Given the description of an element on the screen output the (x, y) to click on. 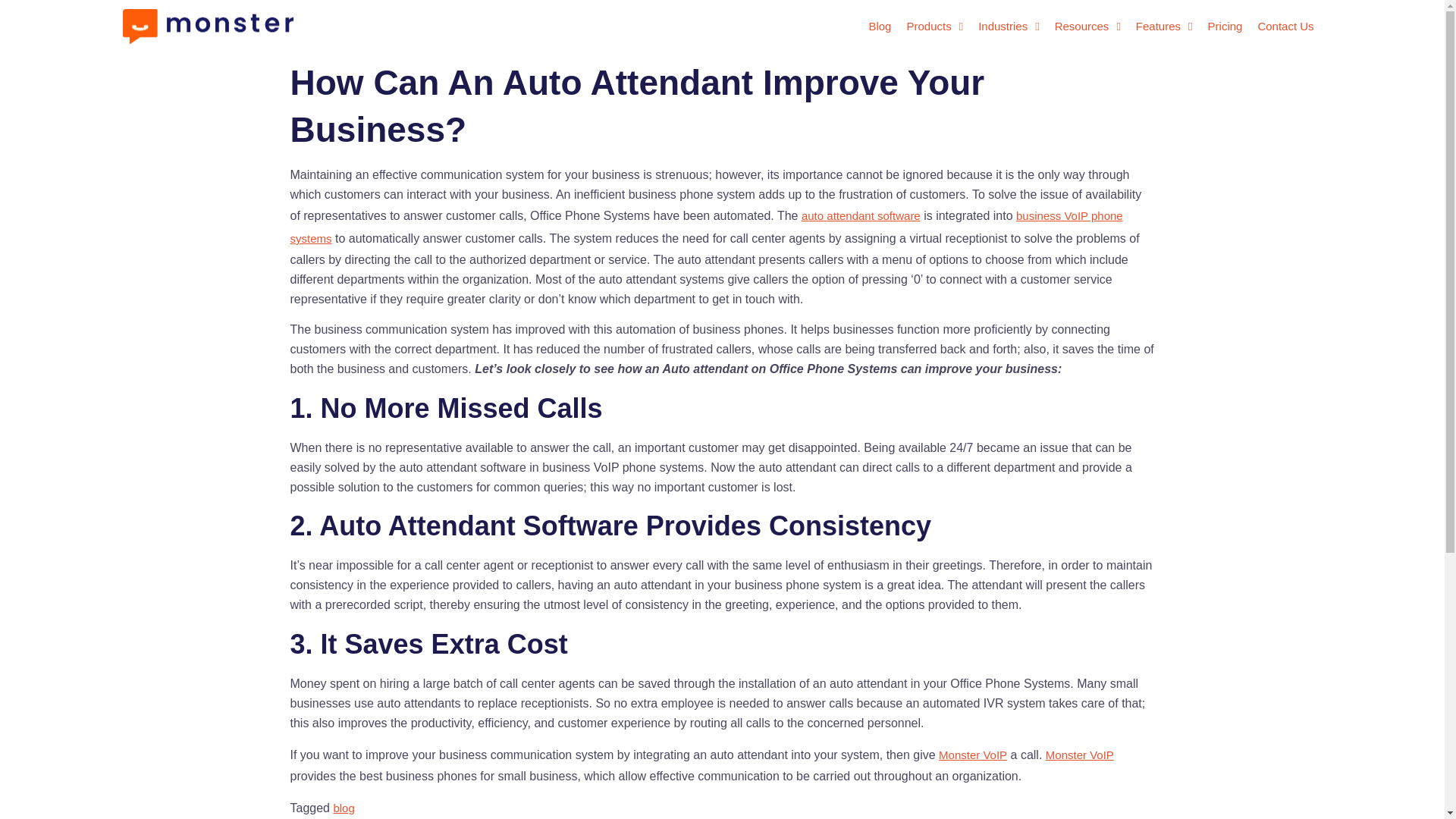
Resources (1087, 26)
Products (934, 26)
Blog (879, 26)
Industries (1008, 26)
